Given the description of an element on the screen output the (x, y) to click on. 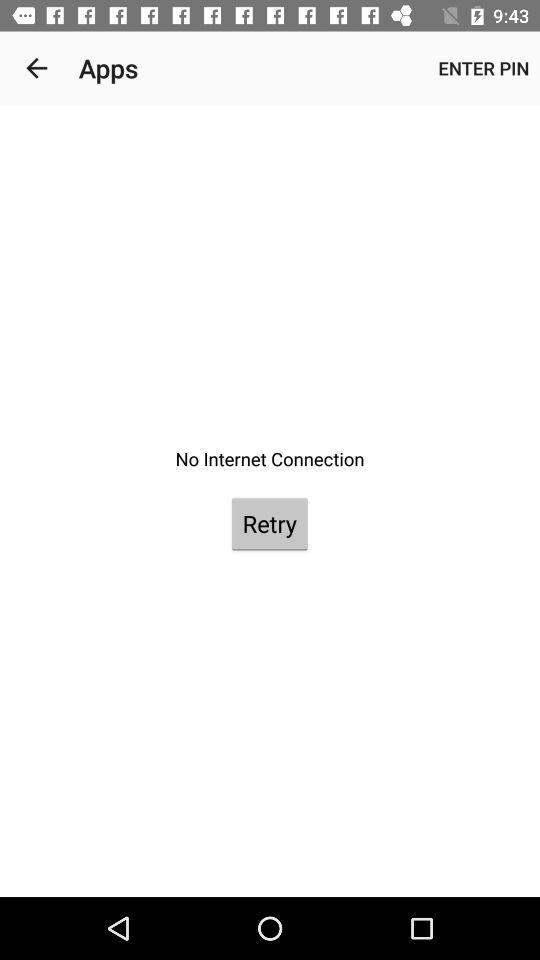
select retry item (269, 523)
